Given the description of an element on the screen output the (x, y) to click on. 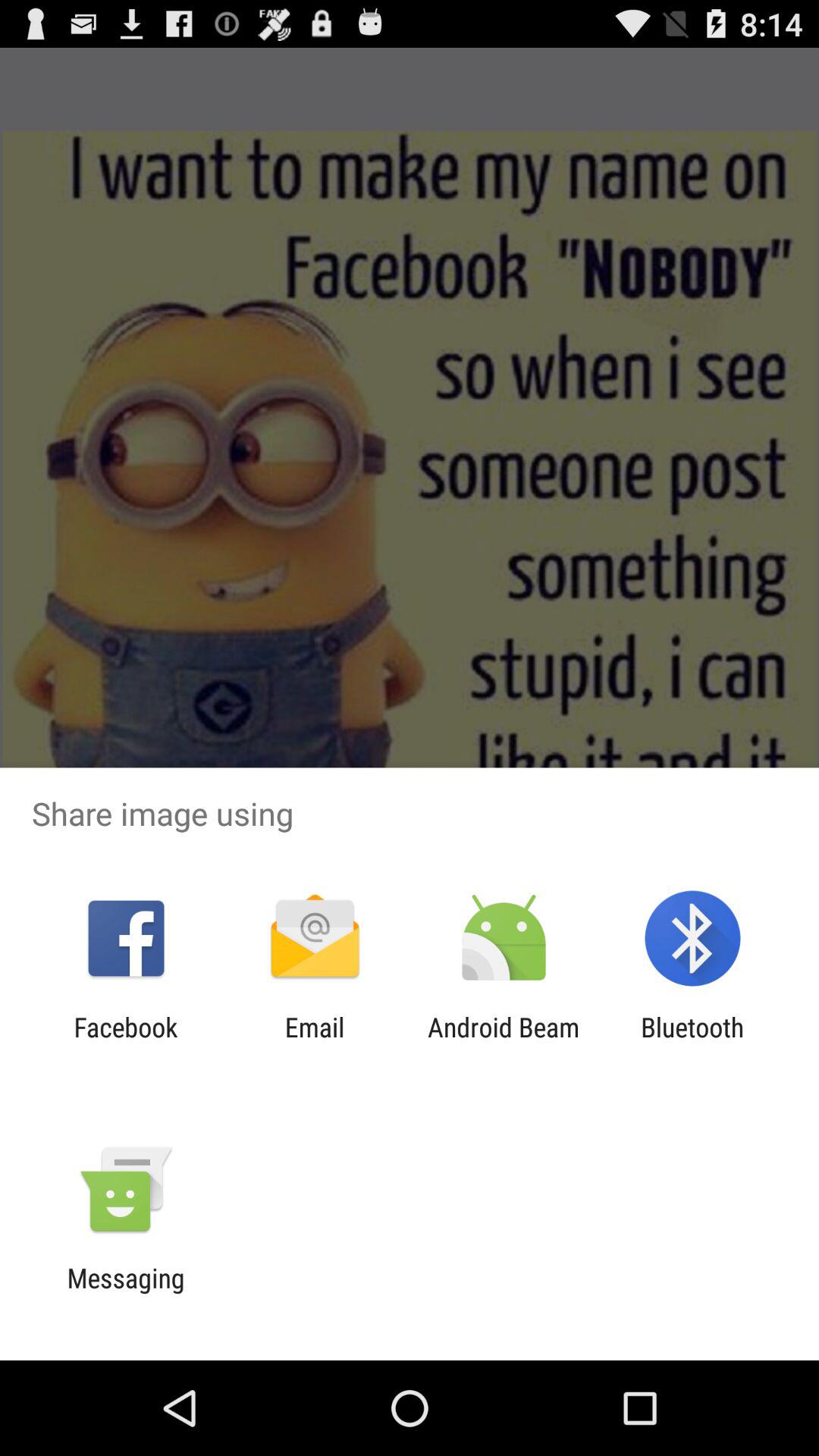
choose icon to the left of email icon (125, 1042)
